Given the description of an element on the screen output the (x, y) to click on. 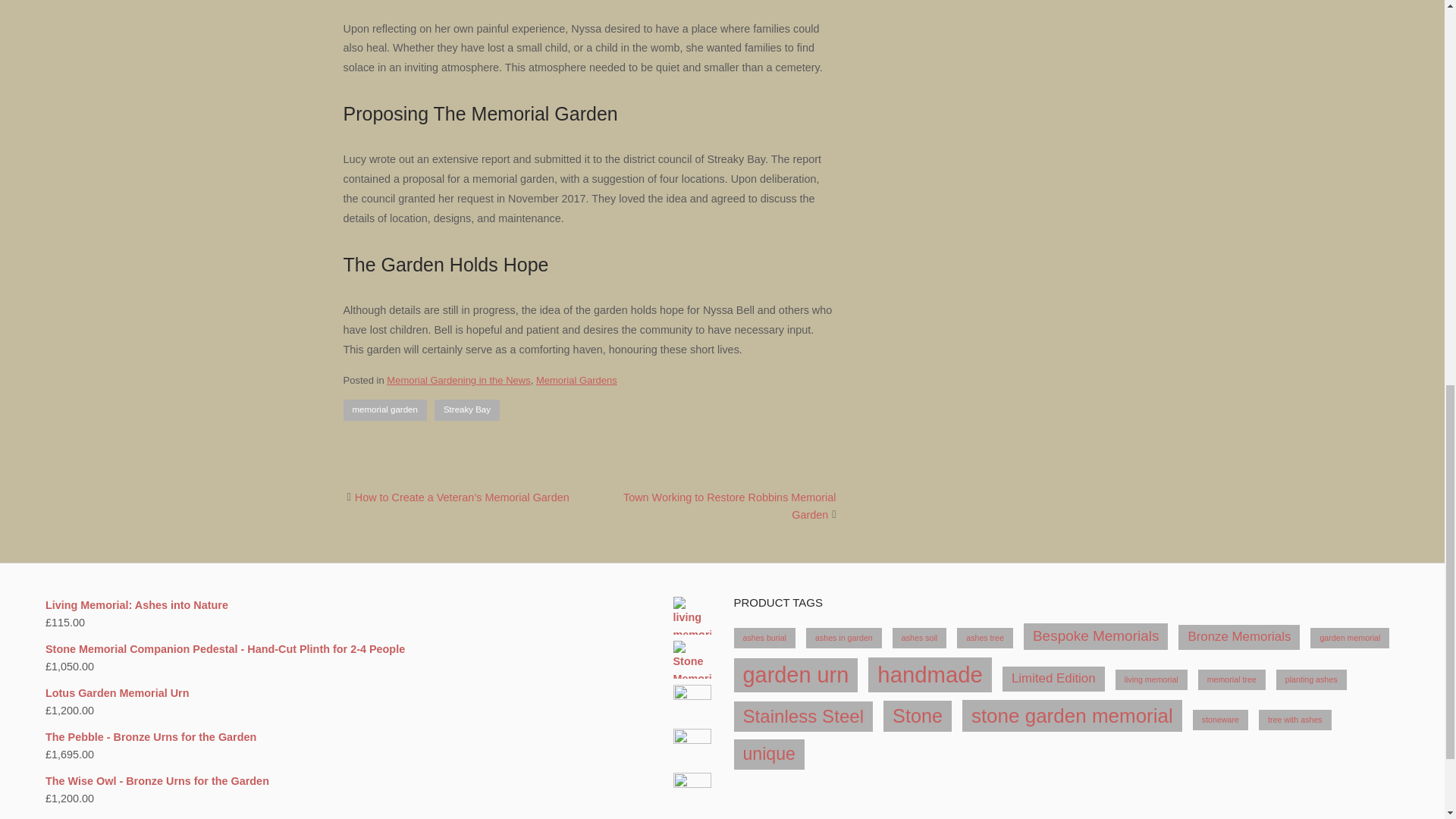
Living Memorial: Ashes into Nature (378, 605)
Memorial Gardens (576, 379)
Memorial Gardening in the News (458, 379)
Town Working to Restore Robbins Memorial Garden (729, 505)
Streaky Bay (466, 409)
memorial garden (384, 409)
Lotus Garden Memorial Urn (378, 692)
